Given the description of an element on the screen output the (x, y) to click on. 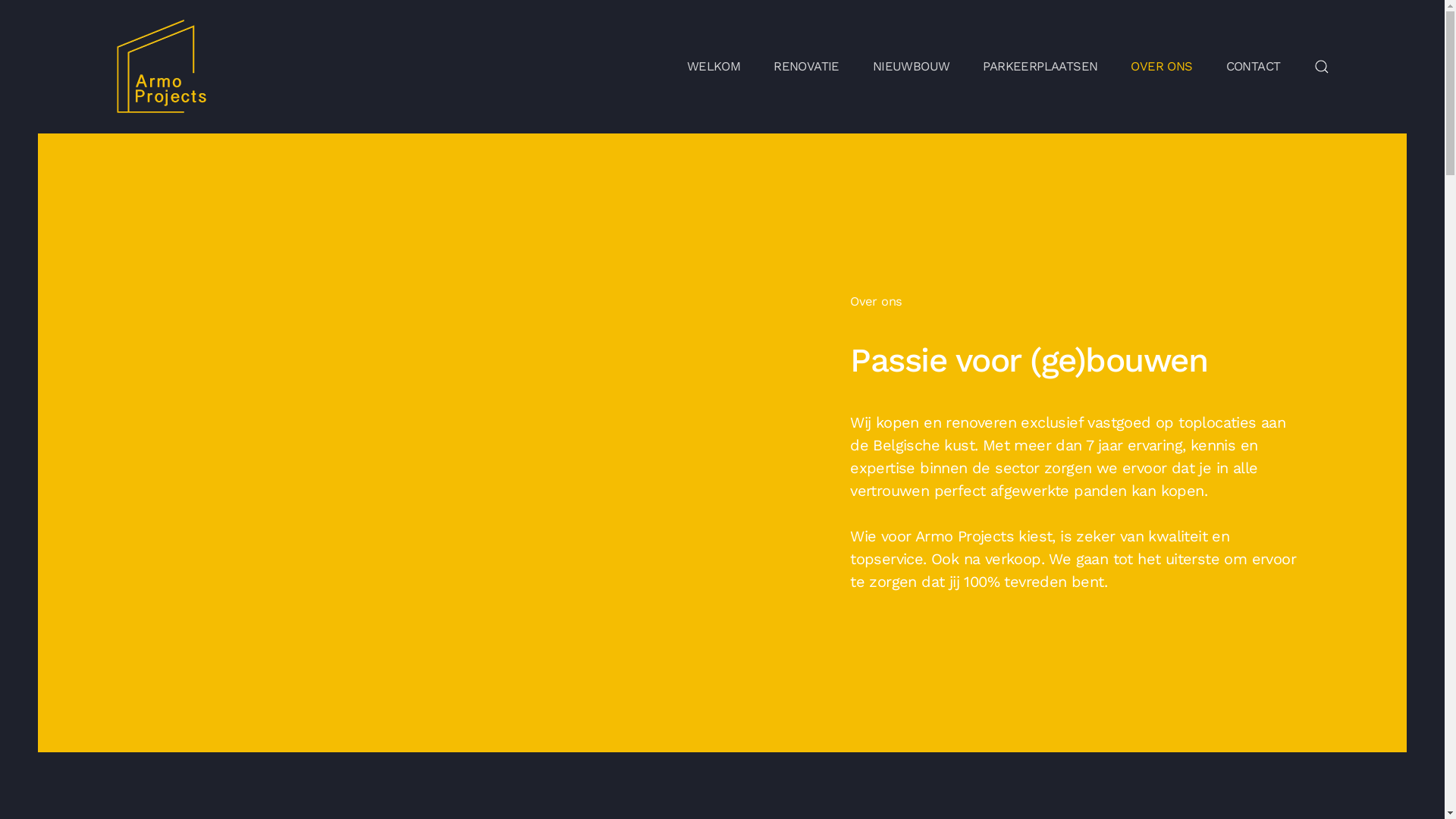
NIEUWBOUW Element type: text (911, 66)
CONTACT Element type: text (1253, 66)
OVER ONS Element type: text (1161, 66)
WELKOM Element type: text (713, 66)
RENOVATIE Element type: text (806, 66)
PARKEERPLAATSEN Element type: text (1039, 66)
